Given the description of an element on the screen output the (x, y) to click on. 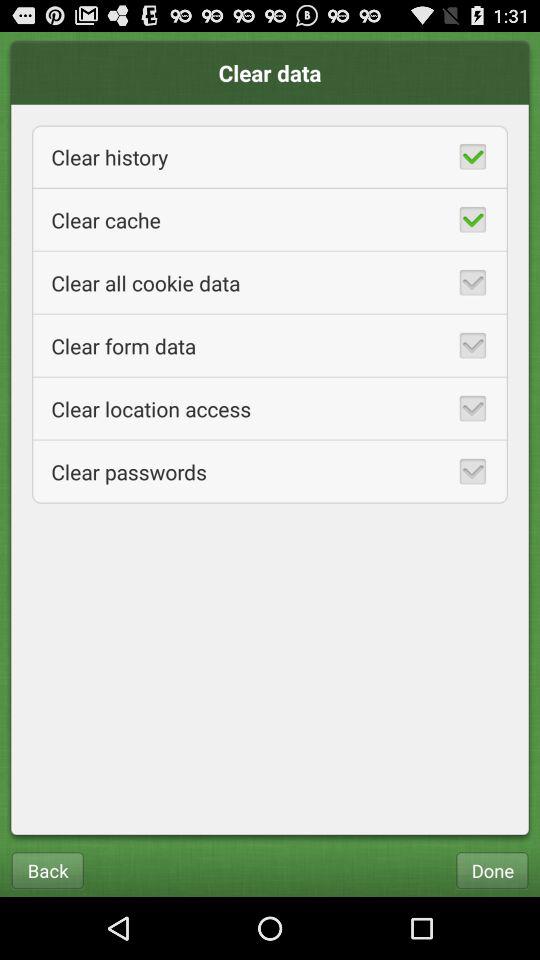
tap item below the clear location access app (269, 471)
